Given the description of an element on the screen output the (x, y) to click on. 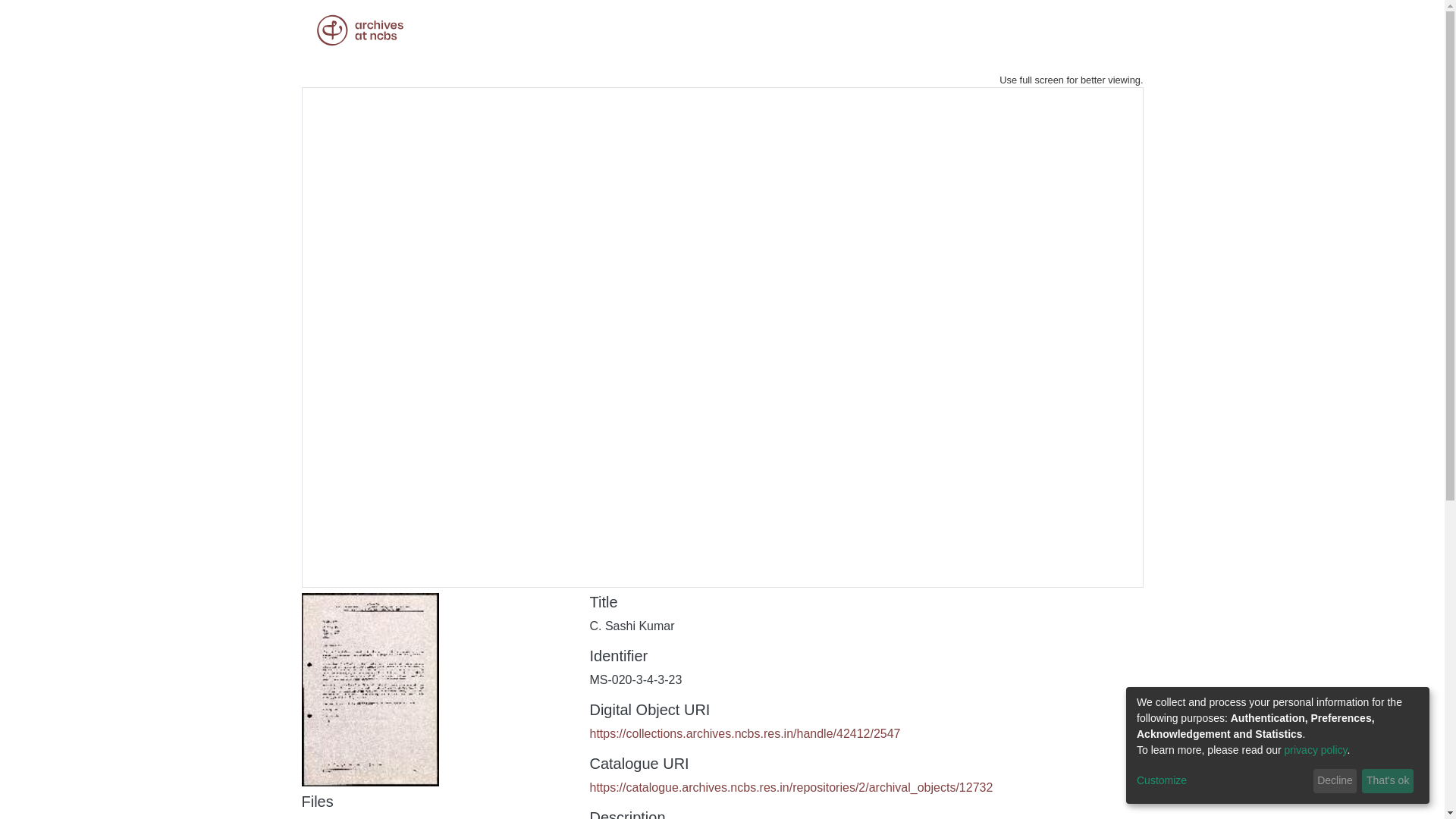
That's ok (1387, 781)
privacy policy (1316, 749)
Decline (1334, 781)
Customize (1222, 780)
